Given the description of an element on the screen output the (x, y) to click on. 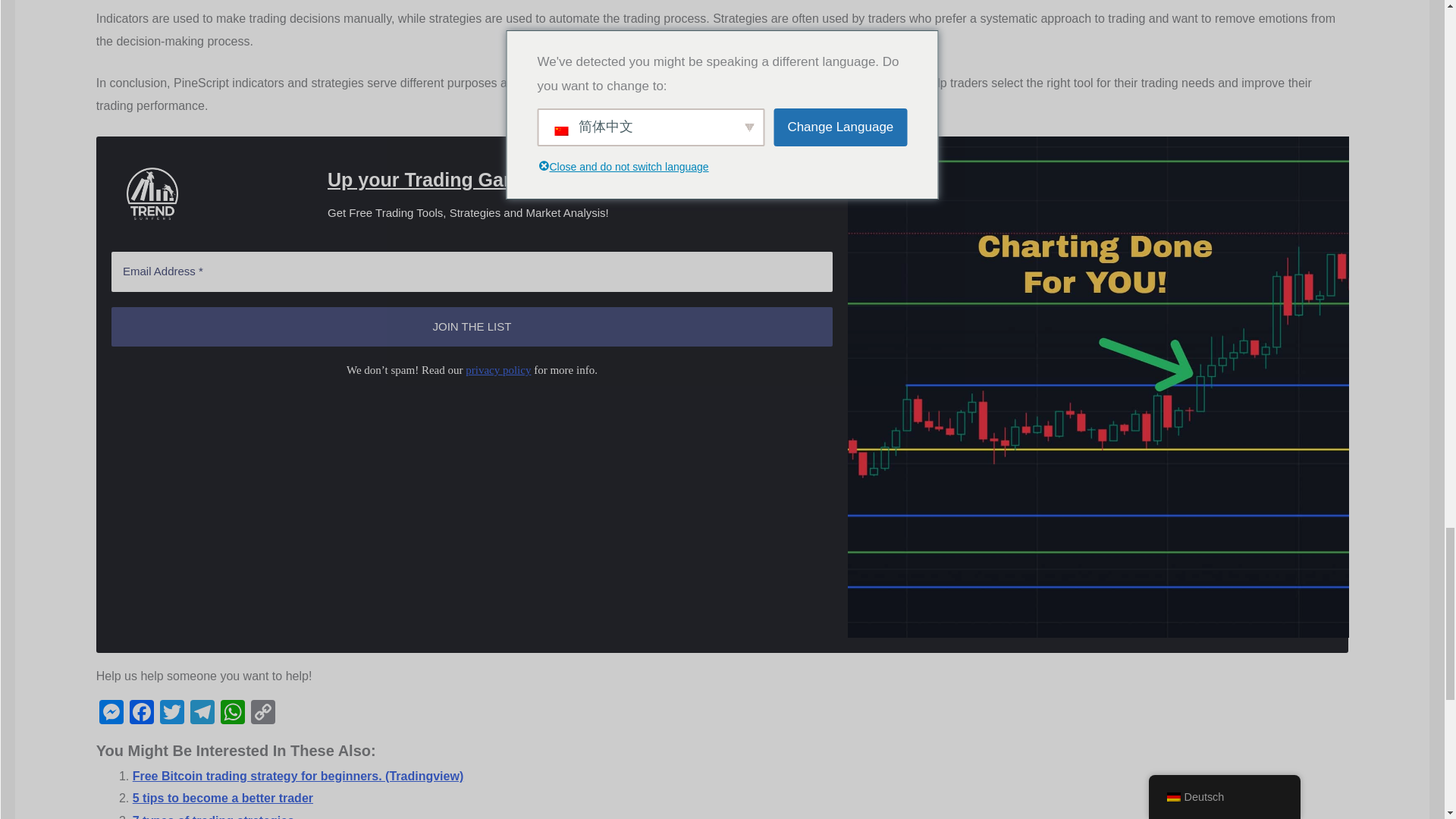
Email Address (472, 271)
Trend Surfers - Crypto Signals Logo White - Trend Surfers (151, 193)
Messenger (111, 714)
JOIN THE LIST (472, 327)
WhatsApp (231, 714)
Facebook (141, 714)
Twitter (172, 714)
Telegram (201, 714)
